Given the description of an element on the screen output the (x, y) to click on. 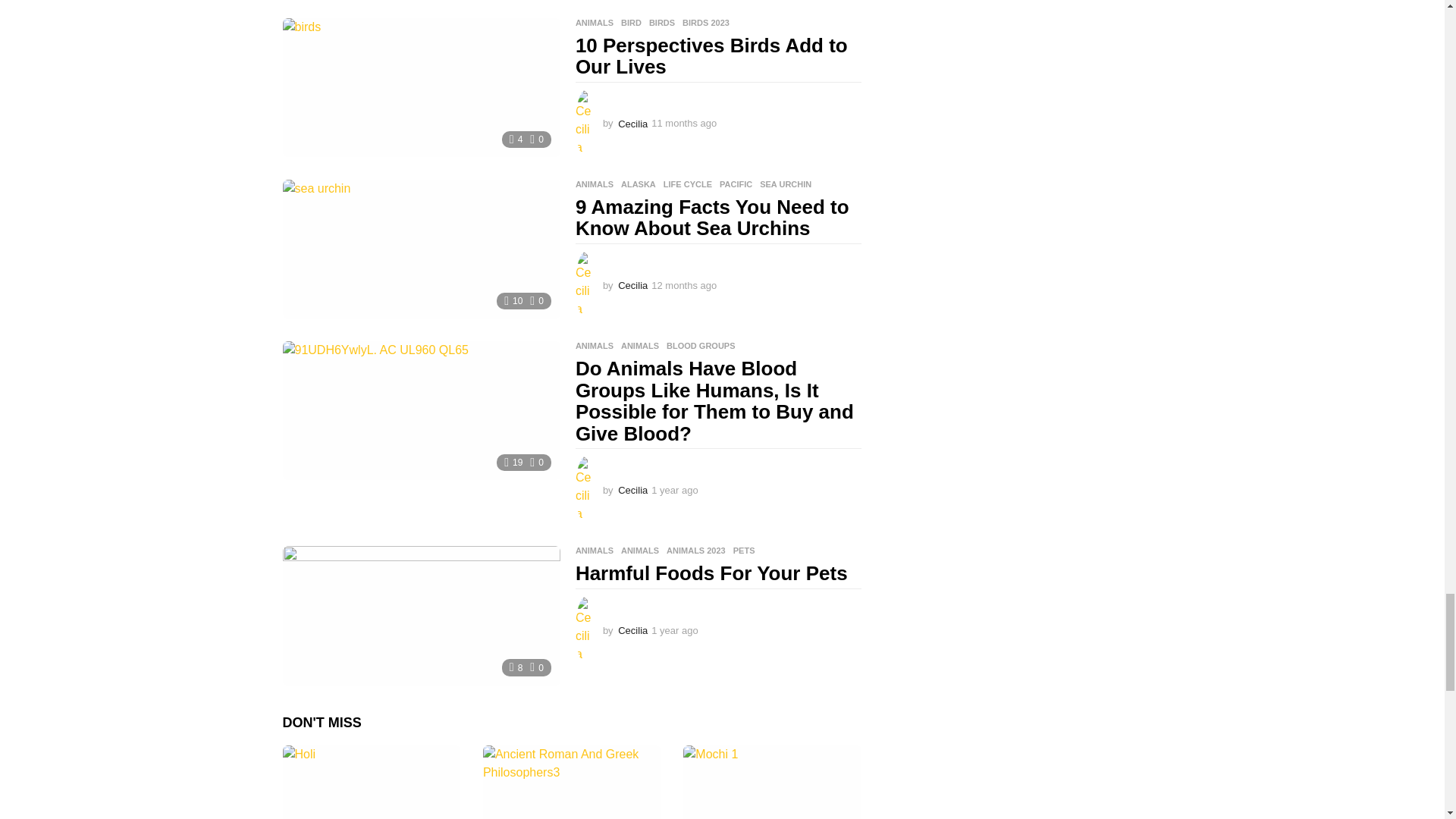
9 Amazing Facts You Need to Know About Sea Urchins (420, 248)
10 Perspectives Birds Add to Our Lives (420, 87)
